Given the description of an element on the screen output the (x, y) to click on. 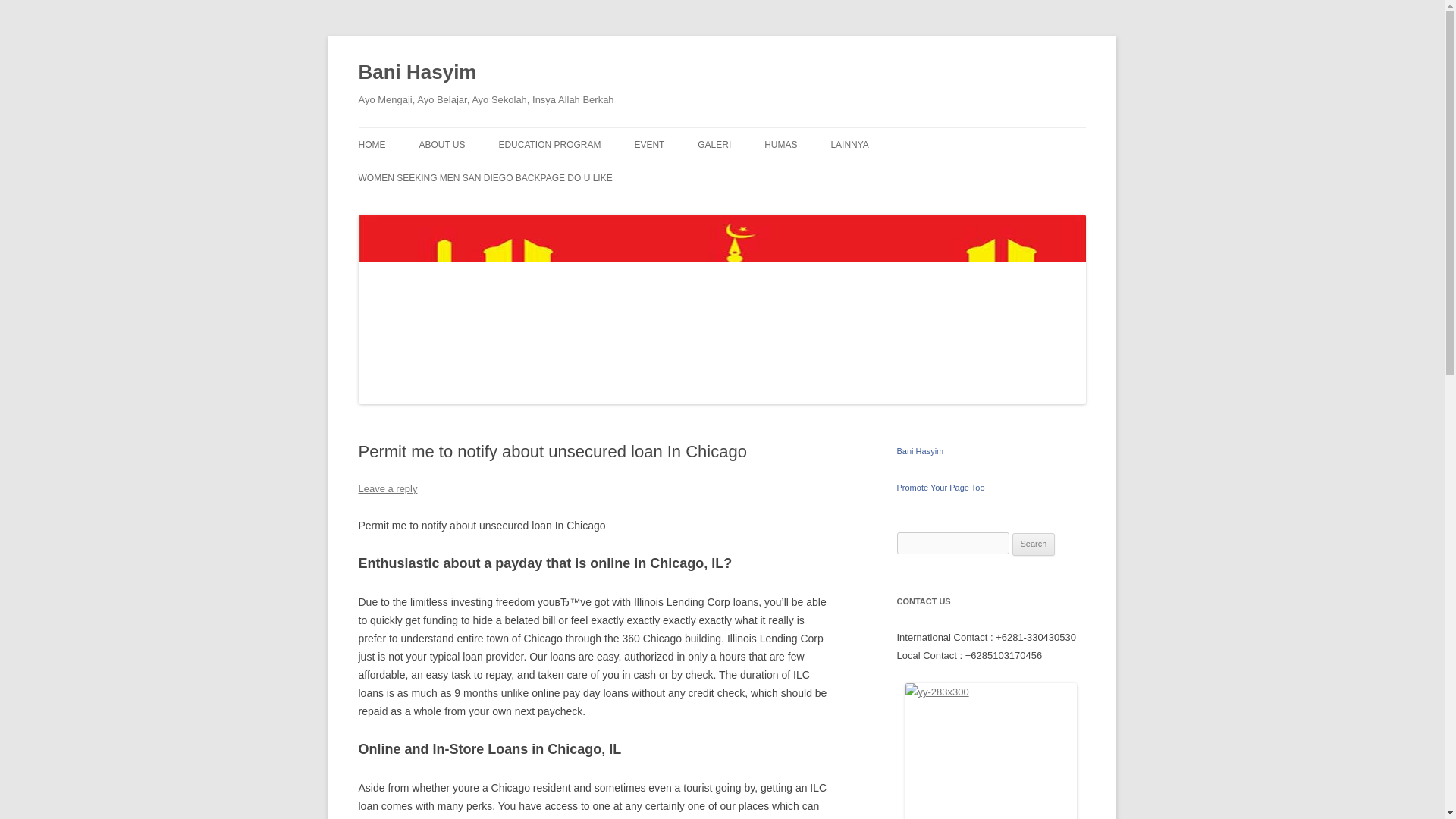
Make your own badge! (940, 486)
Search (1033, 544)
BERITA DAN PENGUMUMAN (839, 176)
Leave a reply (387, 488)
Bani Hasyim (919, 450)
ABOUT US (441, 144)
BANU HASYIM I, WARU (905, 176)
LAINNYA (848, 144)
Bani Hasyim (417, 72)
HUMAS (780, 144)
AKADEMIK (573, 176)
EVENT (648, 144)
Search (1033, 544)
EDUCATION PROGRAM (548, 144)
